Given the description of an element on the screen output the (x, y) to click on. 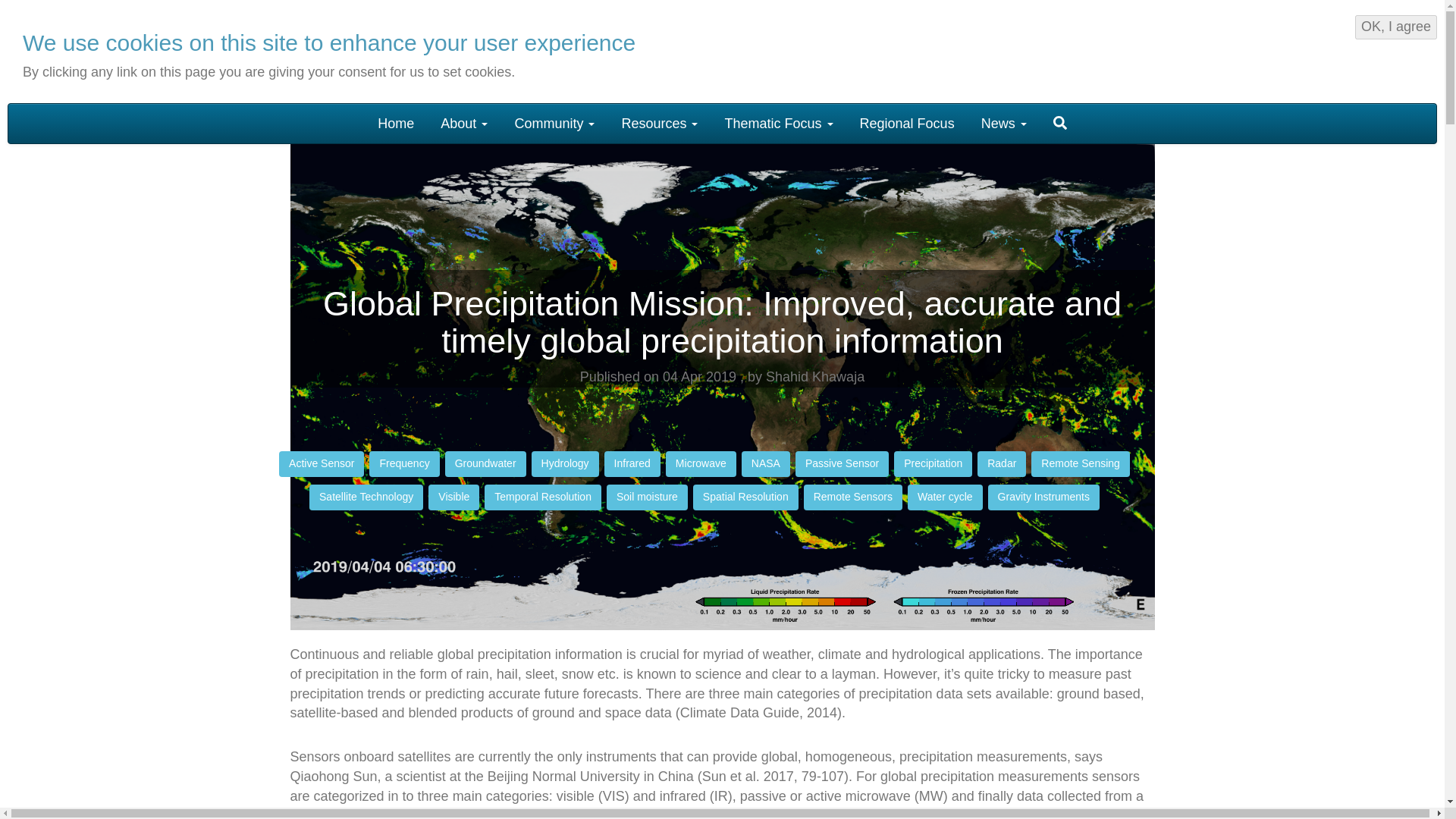
Thematic Focus (778, 123)
Community (553, 123)
News (1003, 123)
United Nations Office for Outer Space Affairs (1150, 48)
Home (395, 123)
Resources (659, 123)
Home (116, 53)
Regional Focus (907, 123)
About (464, 123)
